Given the description of an element on the screen output the (x, y) to click on. 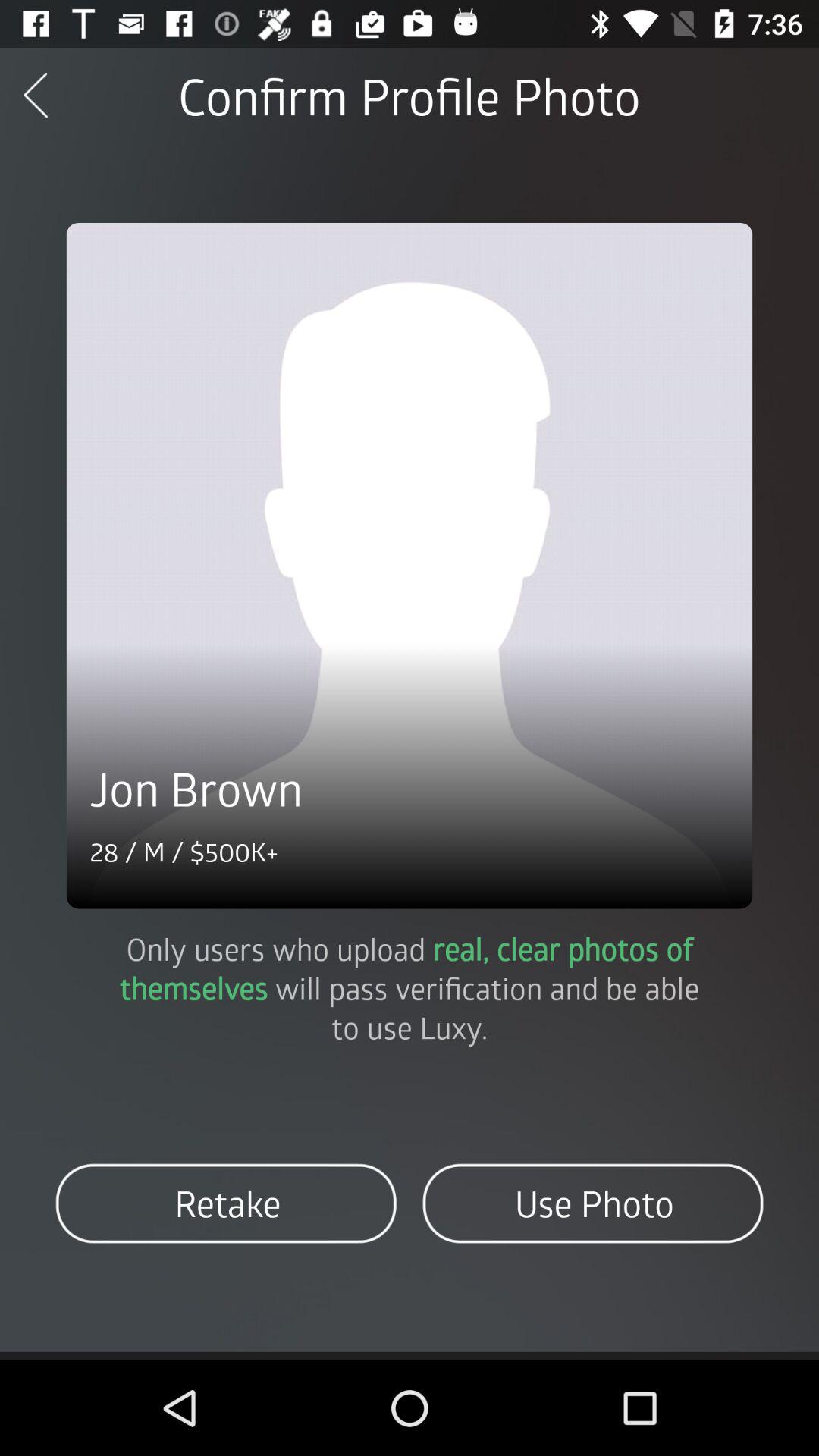
current profile photo (409, 565)
